Given the description of an element on the screen output the (x, y) to click on. 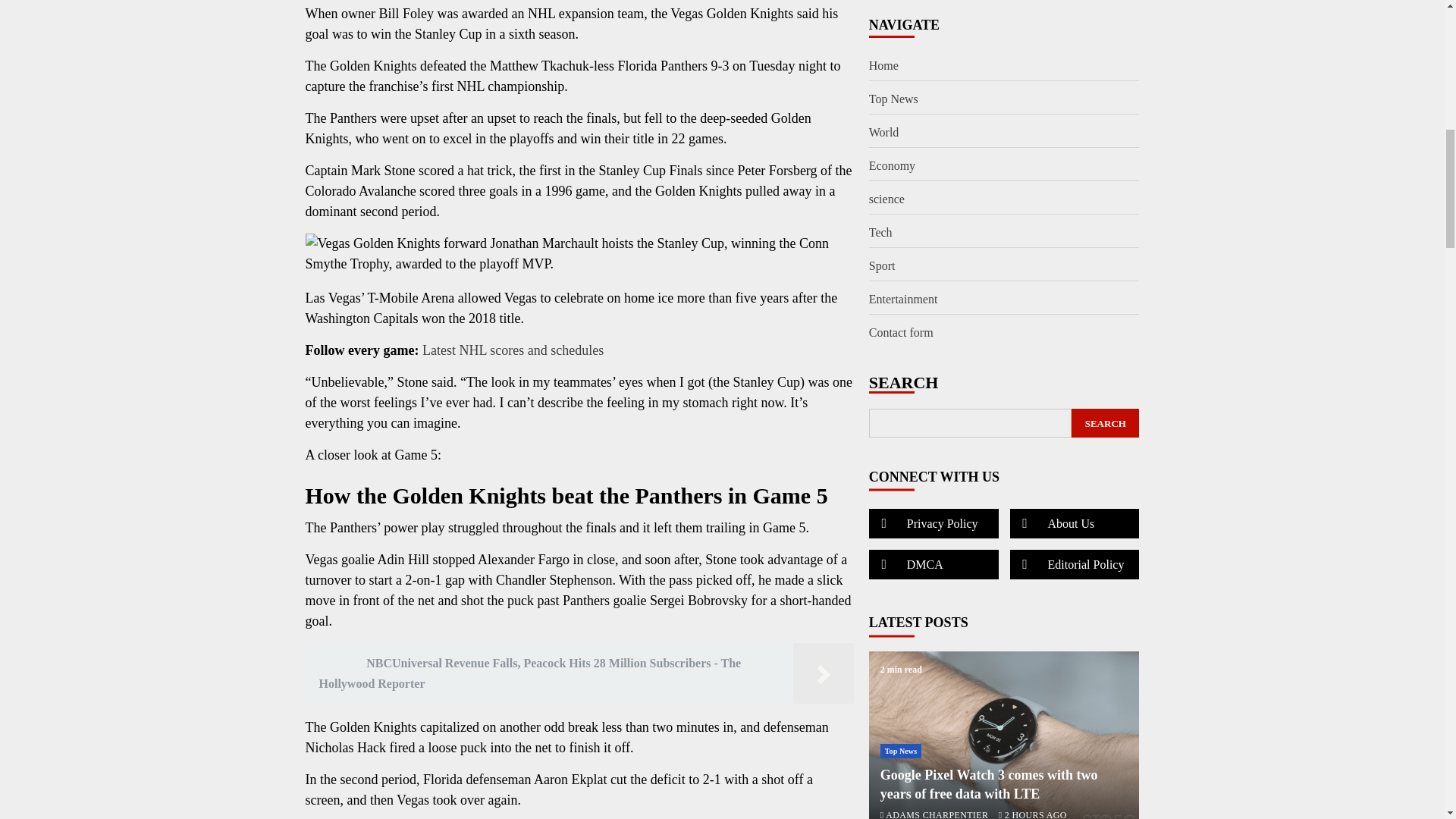
Latest NHL scores and schedules (513, 350)
